Given the description of an element on the screen output the (x, y) to click on. 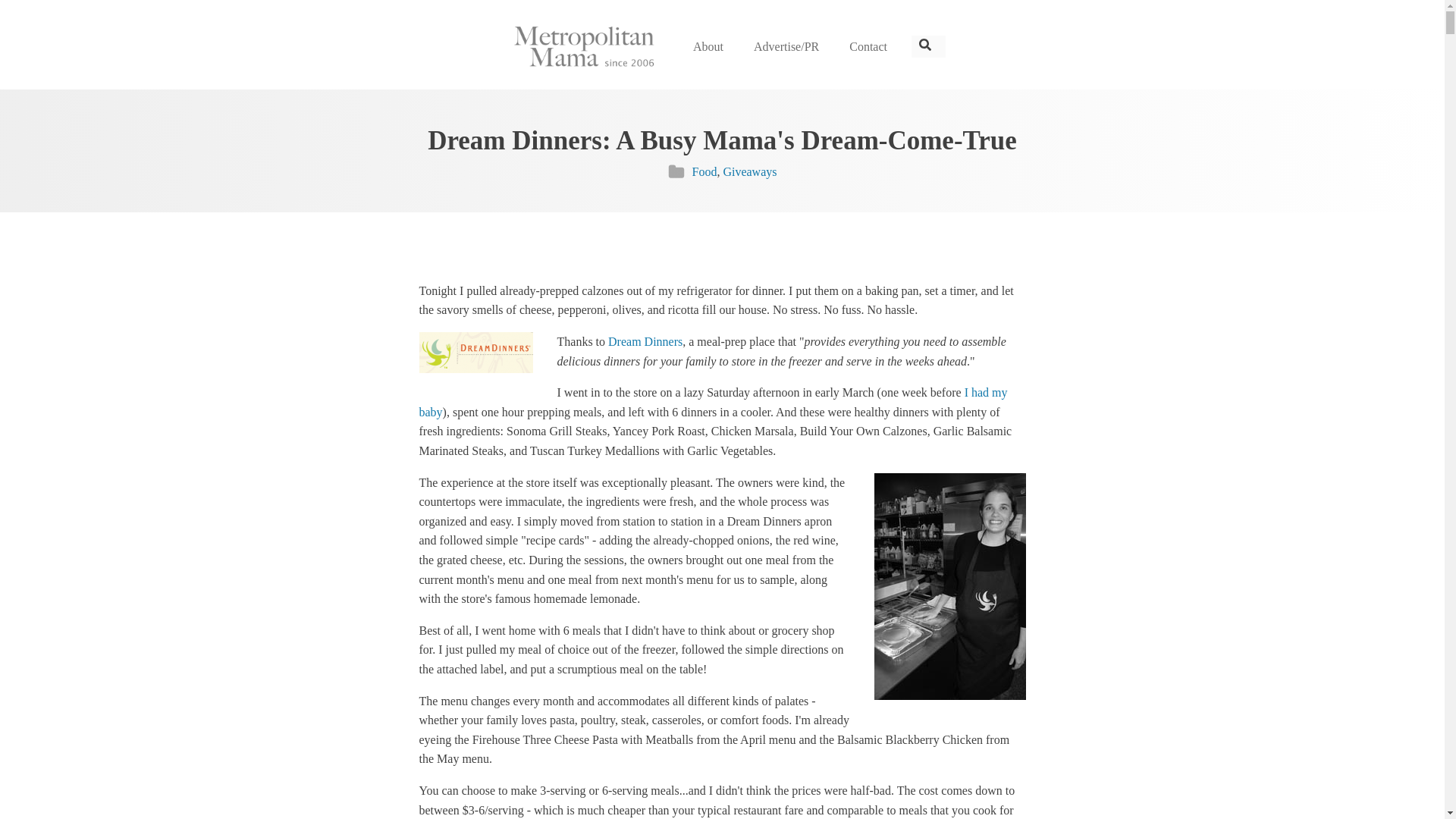
Search for: (927, 47)
I had my baby (713, 401)
About (708, 46)
Dream Dinners (645, 341)
Food (703, 171)
Giveaways (749, 171)
Contact (868, 46)
dream dinners logo (475, 352)
Search (29, 16)
